Given the description of an element on the screen output the (x, y) to click on. 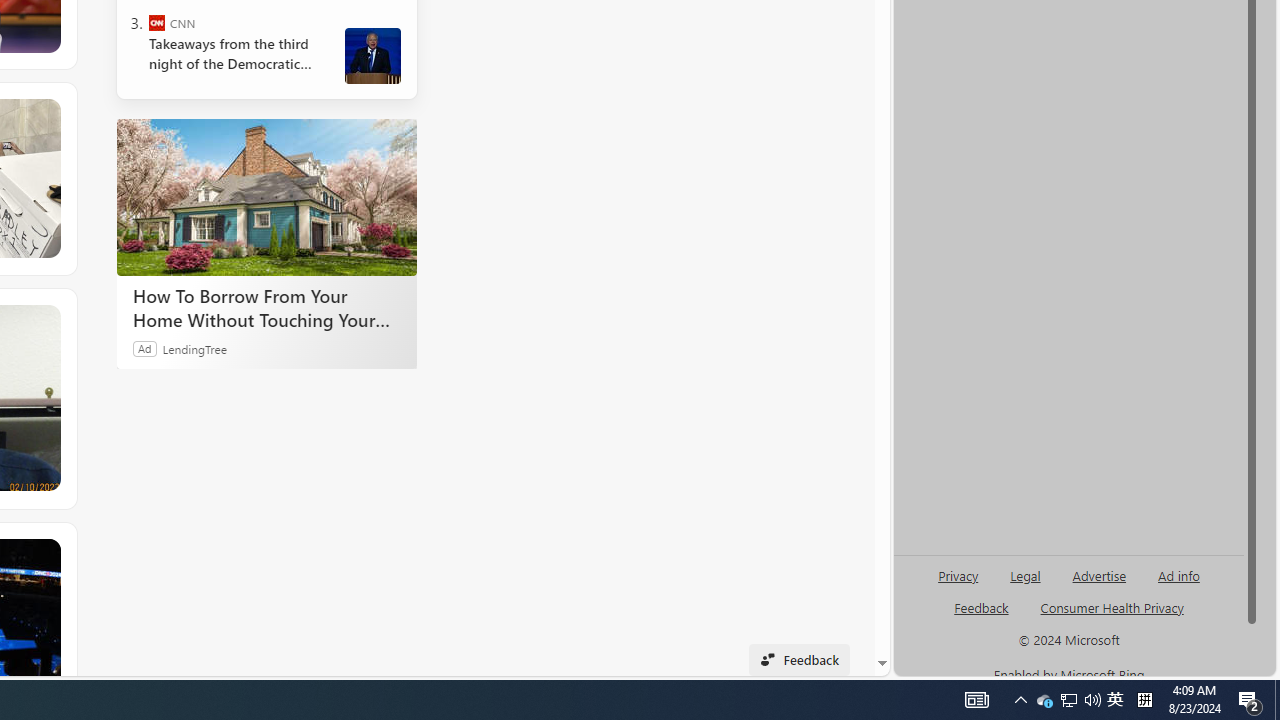
How To Borrow From Your Home Without Touching Your Mortgage (266, 196)
LendingTree (194, 348)
CNN (156, 22)
See more (46, 553)
Feedback (798, 659)
Ad (145, 348)
How To Borrow From Your Home Without Touching Your Mortgage (266, 307)
AutomationID: genId96 (981, 615)
AutomationID: sb_feedback (980, 607)
